Given the description of an element on the screen output the (x, y) to click on. 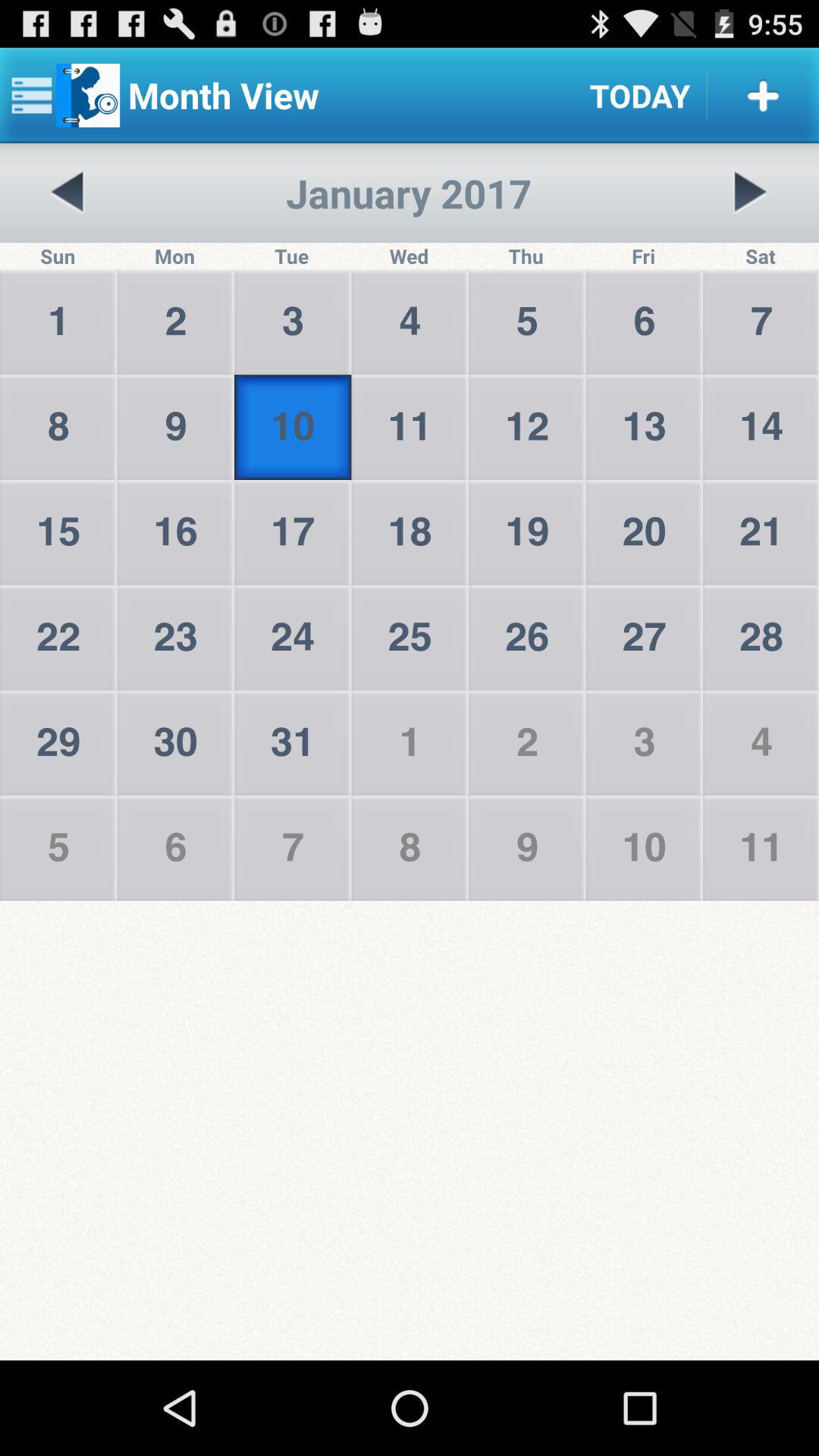
go to previous month (67, 192)
